Given the description of an element on the screen output the (x, y) to click on. 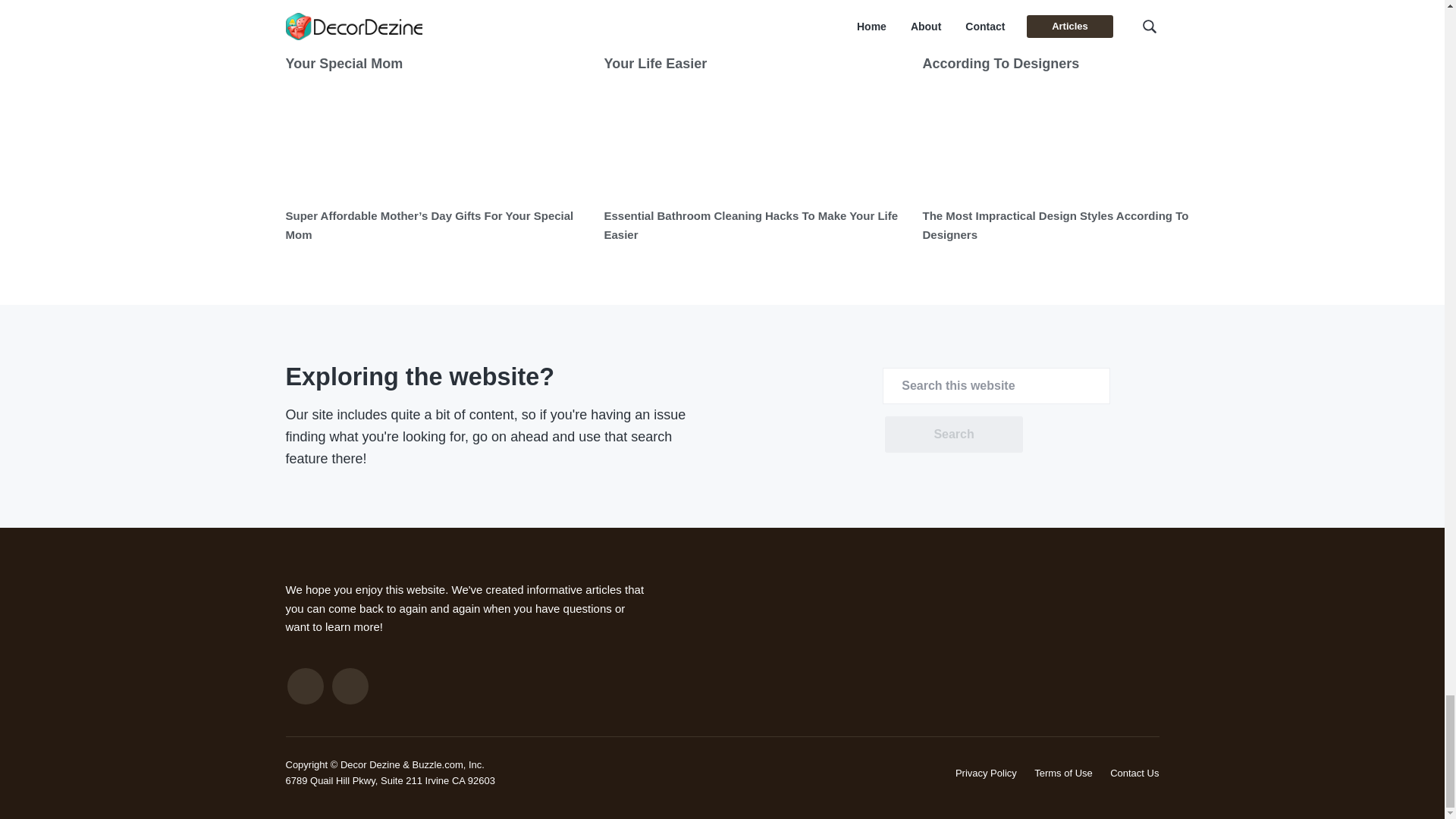
Search (953, 434)
Search (953, 434)
The Most Impractical Design Styles According To Designers (1054, 224)
Essential Bathroom Cleaning Hacks To Make Your Life Easier (751, 224)
